Given the description of an element on the screen output the (x, y) to click on. 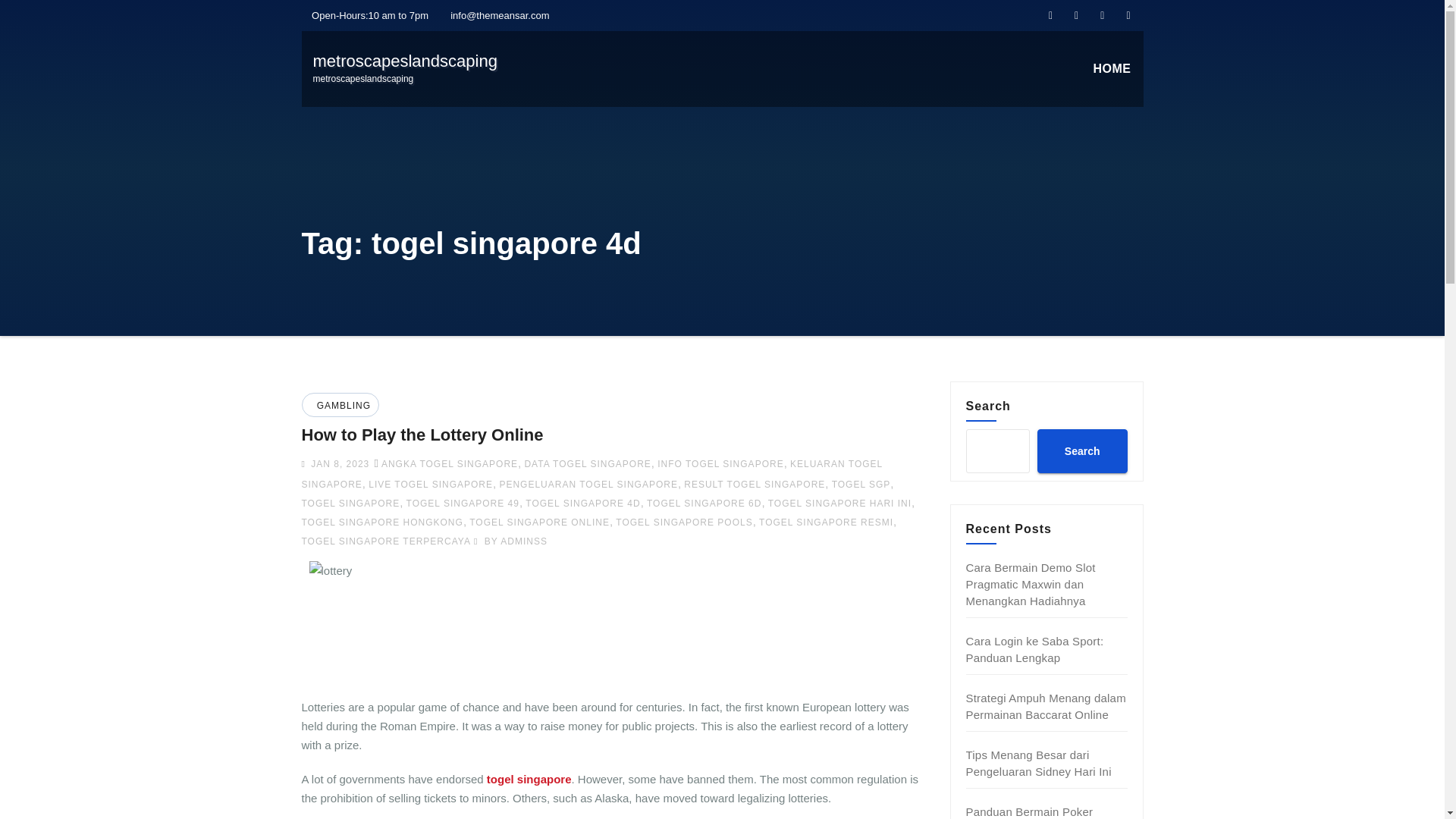
togel singapore (529, 779)
TOGEL SINGAPORE POOLS (683, 521)
DATA TOGEL SINGAPORE (587, 463)
Strategi Ampuh Menang dalam Permainan Baccarat Online (1045, 706)
TOGEL SINGAPORE 49 (462, 502)
RESULT TOGEL SINGAPORE (754, 484)
Permalink to: How to Play the Lottery Online (404, 68)
JAN 8, 2023 (422, 434)
BY ADMINSS (338, 463)
TOGEL SINGAPORE (510, 541)
GAMBLING (350, 502)
TOGEL SINGAPORE 4D (342, 405)
Open-Hours:10 am to 7pm (582, 502)
INFO TOGEL SINGAPORE (365, 15)
